Given the description of an element on the screen output the (x, y) to click on. 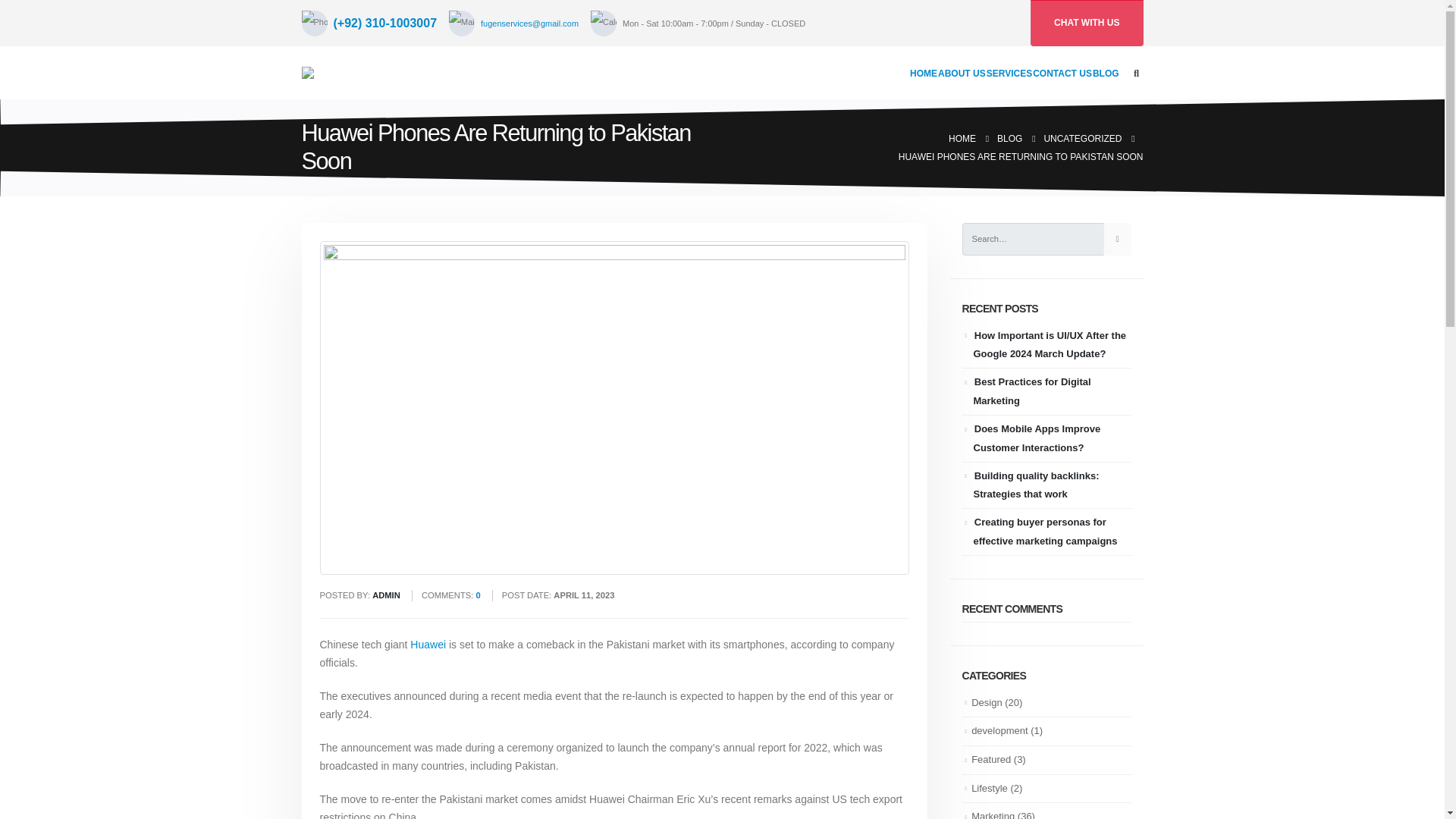
BLOG (1009, 138)
Best Practices for Digital Marketing (1032, 390)
CHAT WITH US (1086, 22)
CONTACT US (1062, 73)
Go to Home Page (962, 138)
HOME (962, 138)
BLOG (1106, 73)
ABOUT US (961, 73)
Fugen Services - Web Design and Development Agency (344, 72)
UNCATEGORIZED (1082, 138)
